Given the description of an element on the screen output the (x, y) to click on. 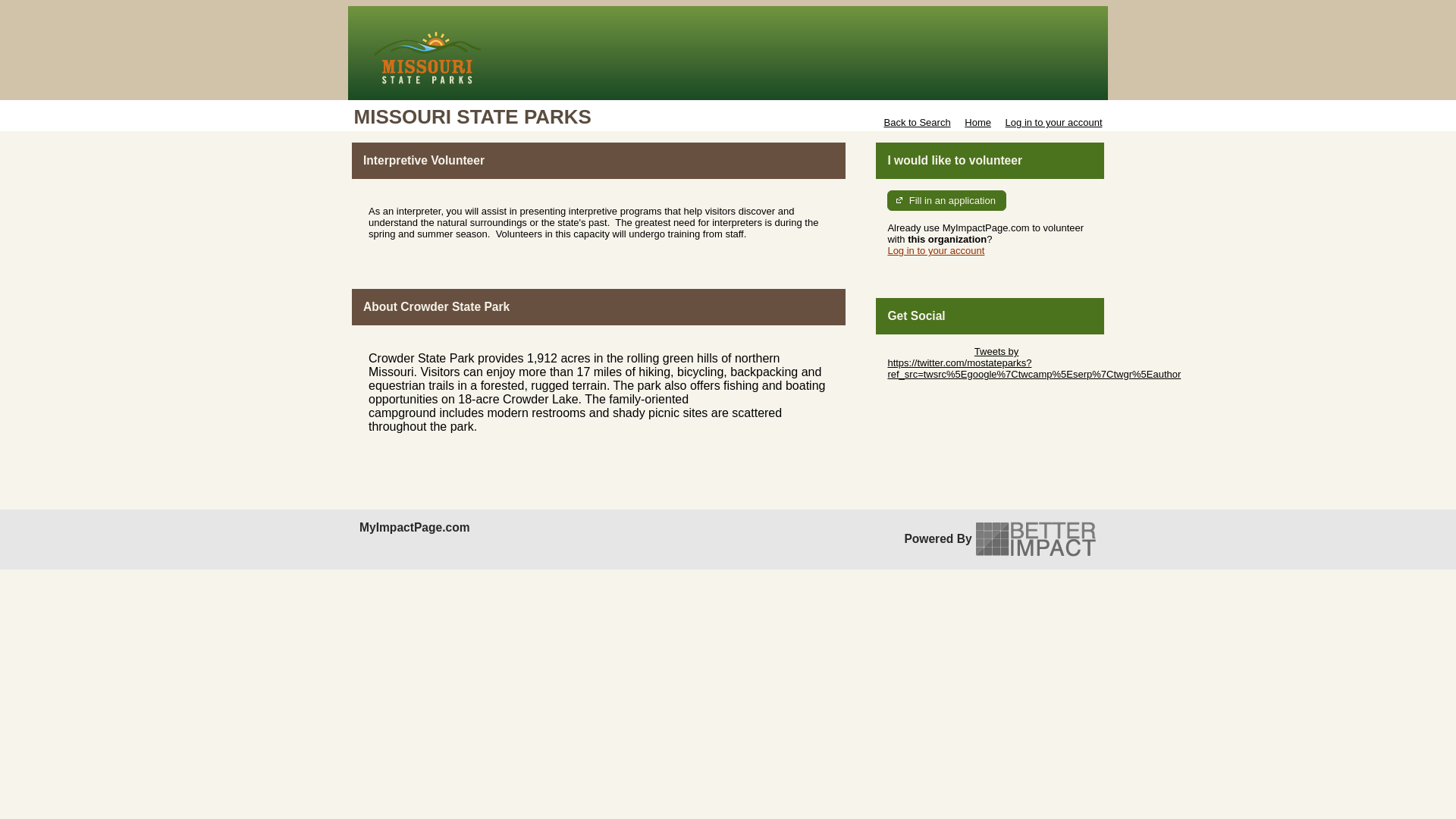
Back to Search (916, 122)
Log in to your account (935, 250)
Log in to your account (1054, 122)
Home (977, 122)
Skip Twitter Widget (928, 351)
Missouri State Parks's Home Page (727, 52)
Fill in an application (946, 200)
